Given the description of an element on the screen output the (x, y) to click on. 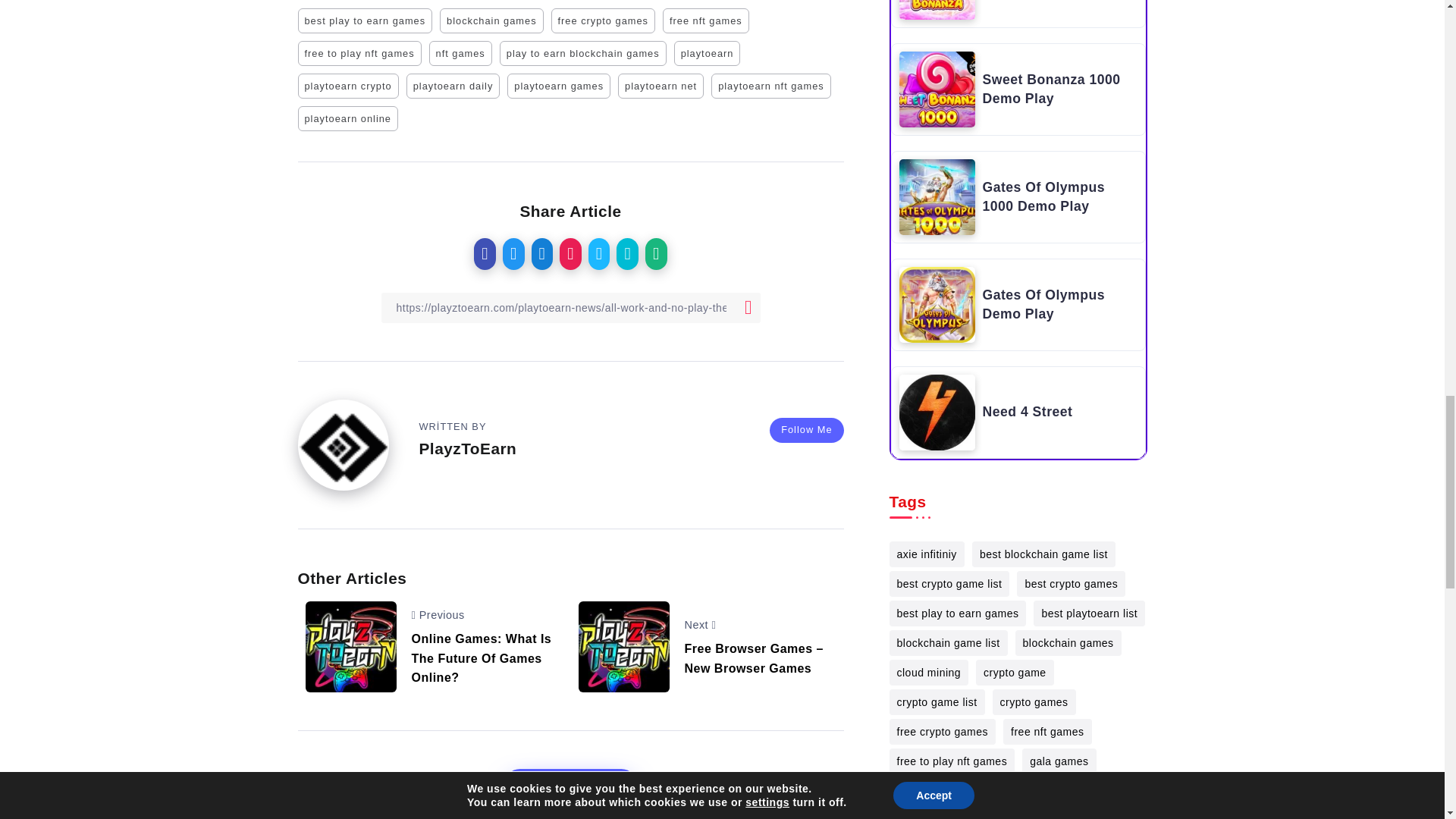
nft games (460, 53)
free to play nft games (358, 53)
blockchain games (491, 20)
free crypto games (603, 20)
playtoearn net (660, 85)
play to earn blockchain games (582, 53)
playtoearn crypto (347, 85)
best play to earn games (364, 20)
